Given the description of an element on the screen output the (x, y) to click on. 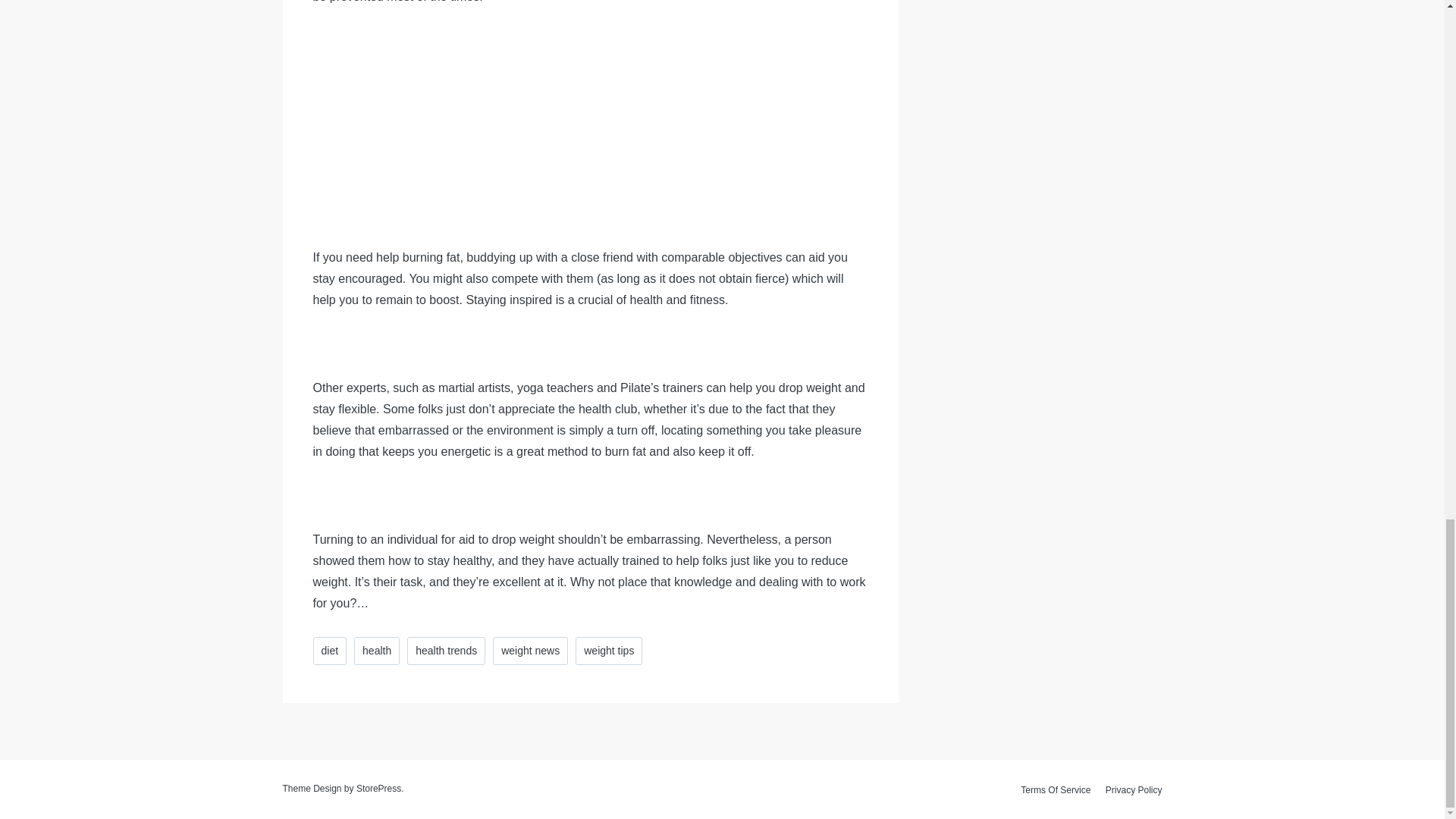
health (375, 651)
weight tips (608, 651)
diet (329, 651)
health trends (445, 651)
weight news (530, 651)
StorePress (378, 787)
Terms Of Service (1055, 790)
